Given the description of an element on the screen output the (x, y) to click on. 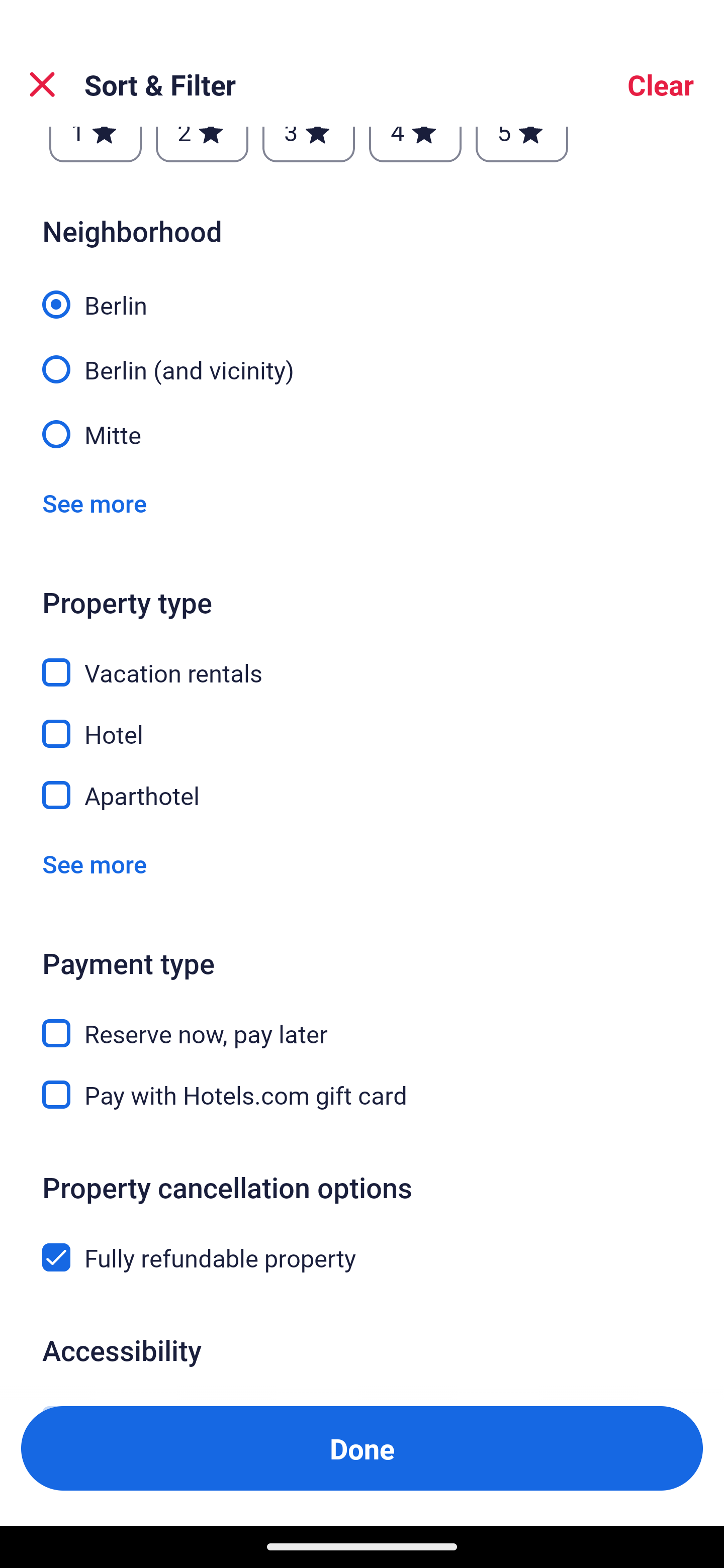
Close Sort and Filter (42, 84)
Clear (660, 84)
Berlin (and vicinity) (361, 358)
Mitte (361, 432)
See more See more neighborhoods Link (93, 502)
Vacation rentals, Vacation rentals (361, 660)
Hotel, Hotel (361, 721)
Aparthotel, Aparthotel (361, 794)
See more See more property types Link (93, 863)
Reserve now, pay later, Reserve now, pay later (361, 1021)
Apply and close Sort and Filter Done (361, 1448)
